Given the description of an element on the screen output the (x, y) to click on. 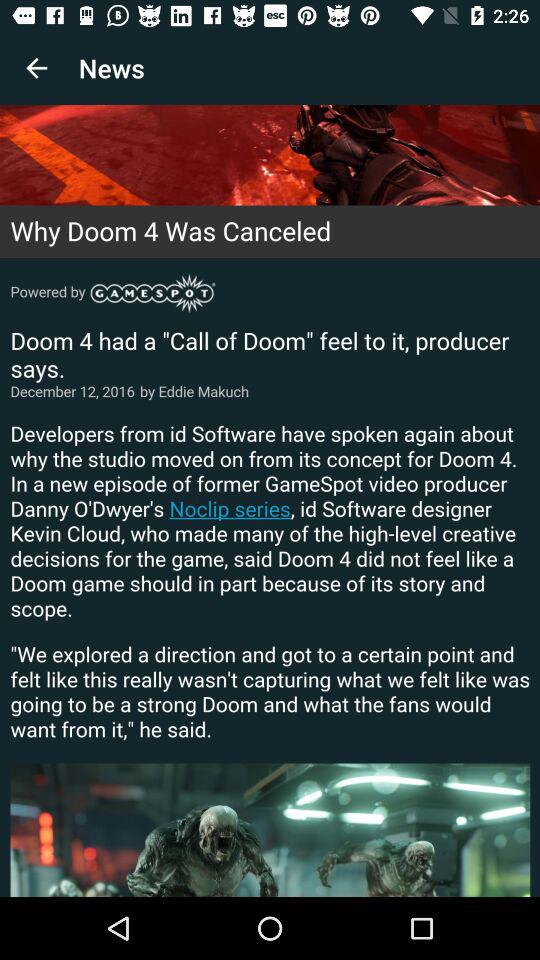
the screen to find more info (270, 501)
